Given the description of an element on the screen output the (x, y) to click on. 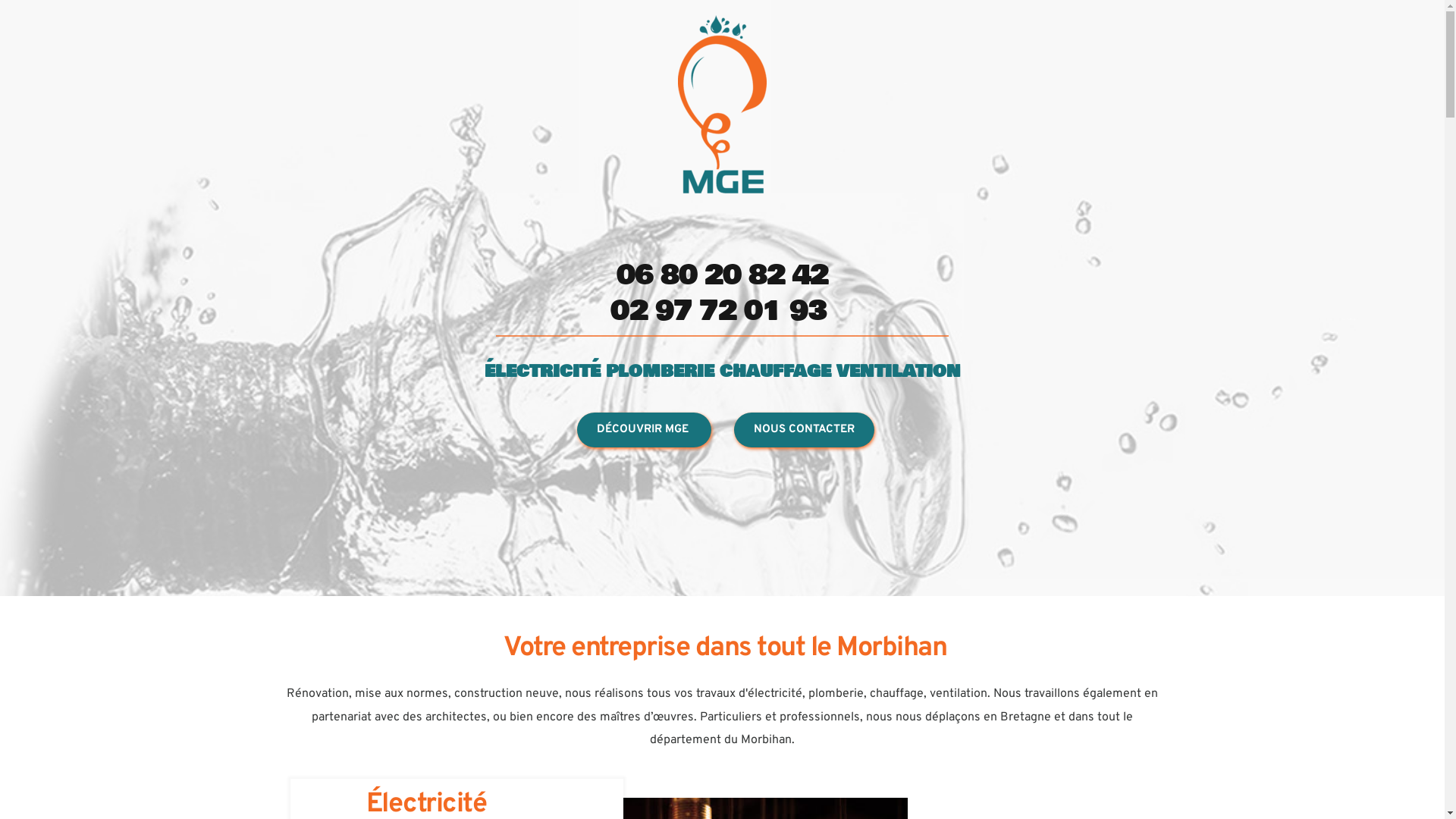
NOUS CONTACTER Element type: text (804, 429)
